Given the description of an element on the screen output the (x, y) to click on. 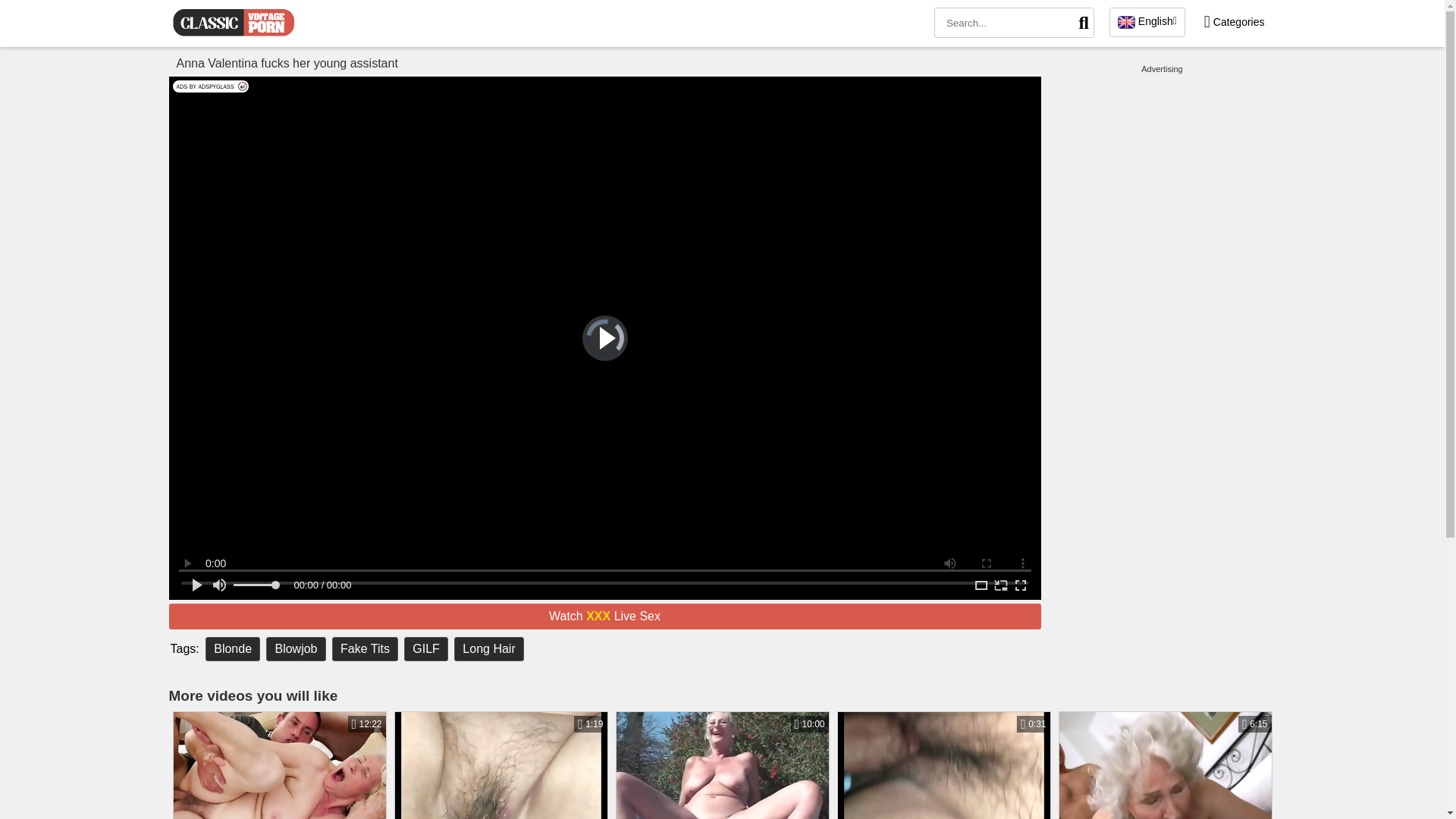
Long Hair (488, 648)
Watch XXX Live Sex (604, 616)
Blowjob (295, 648)
Blonde (232, 648)
Categories (1233, 21)
GILF (1165, 765)
